Given the description of an element on the screen output the (x, y) to click on. 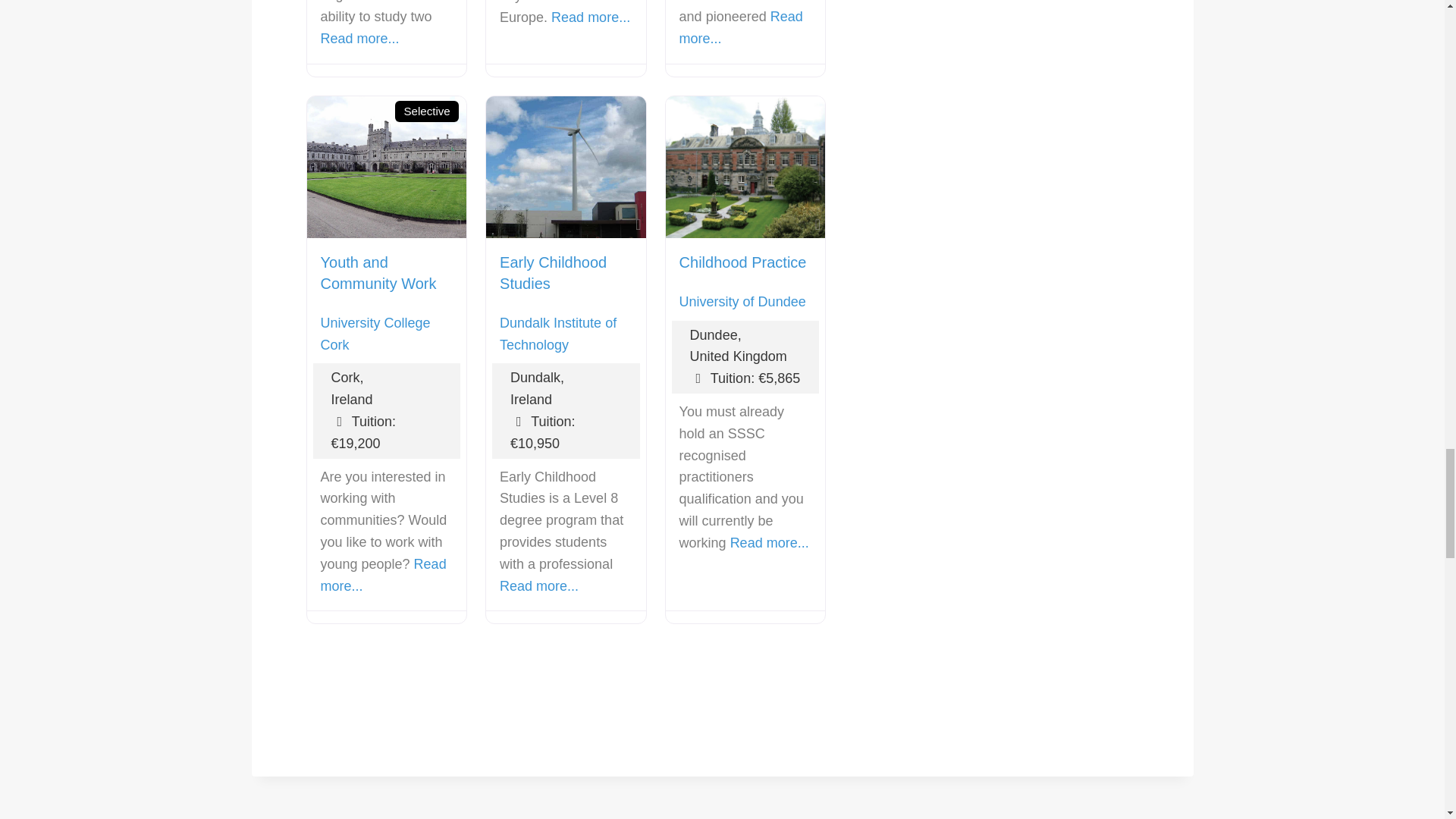
View: Youth and Community Work (377, 272)
View: Early Childhood Studies (553, 272)
